Given the description of an element on the screen output the (x, y) to click on. 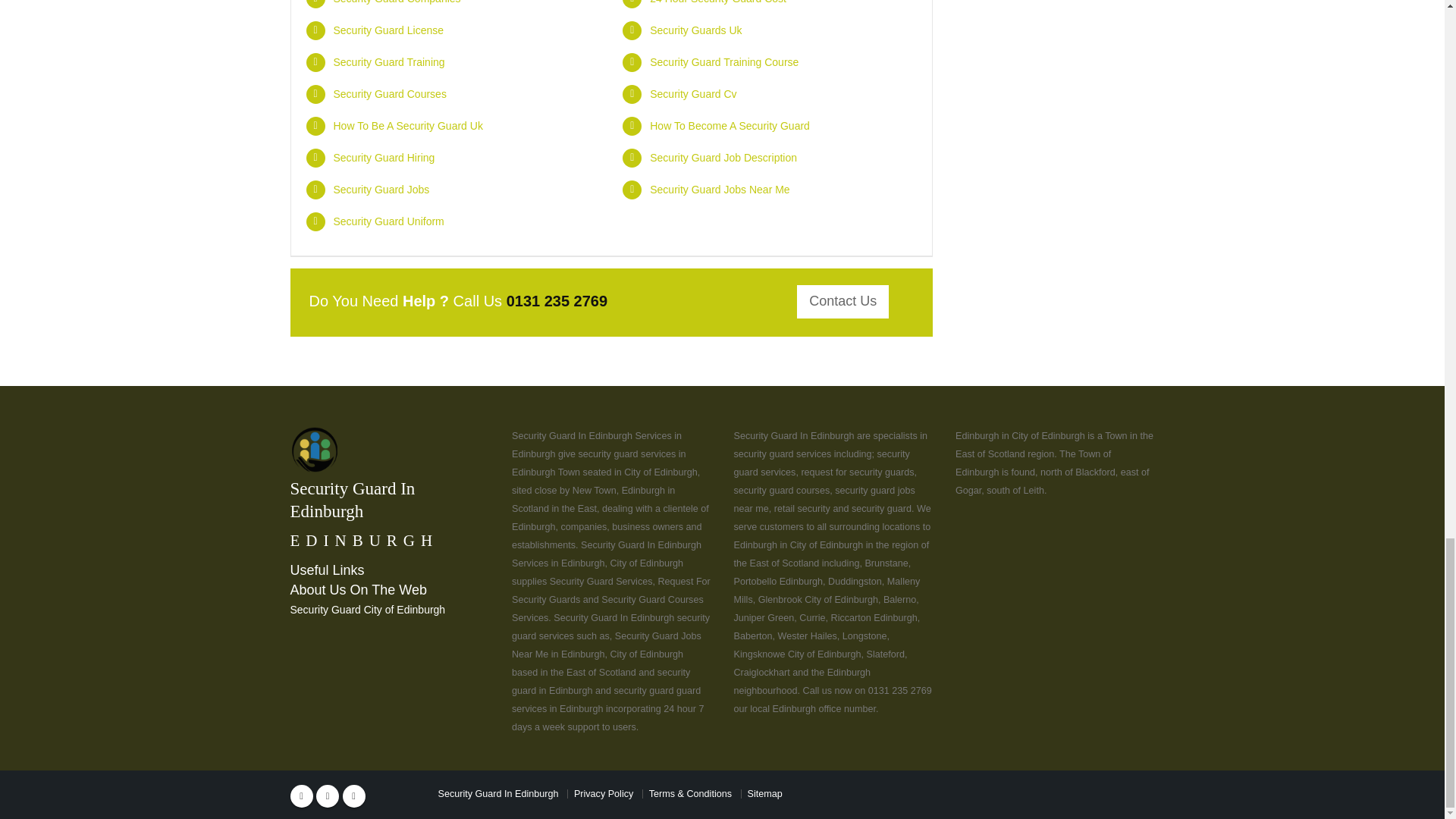
Security Guard Companies (397, 2)
Facebook (301, 795)
Linkedin (353, 795)
Twitter (327, 795)
